Given the description of an element on the screen output the (x, y) to click on. 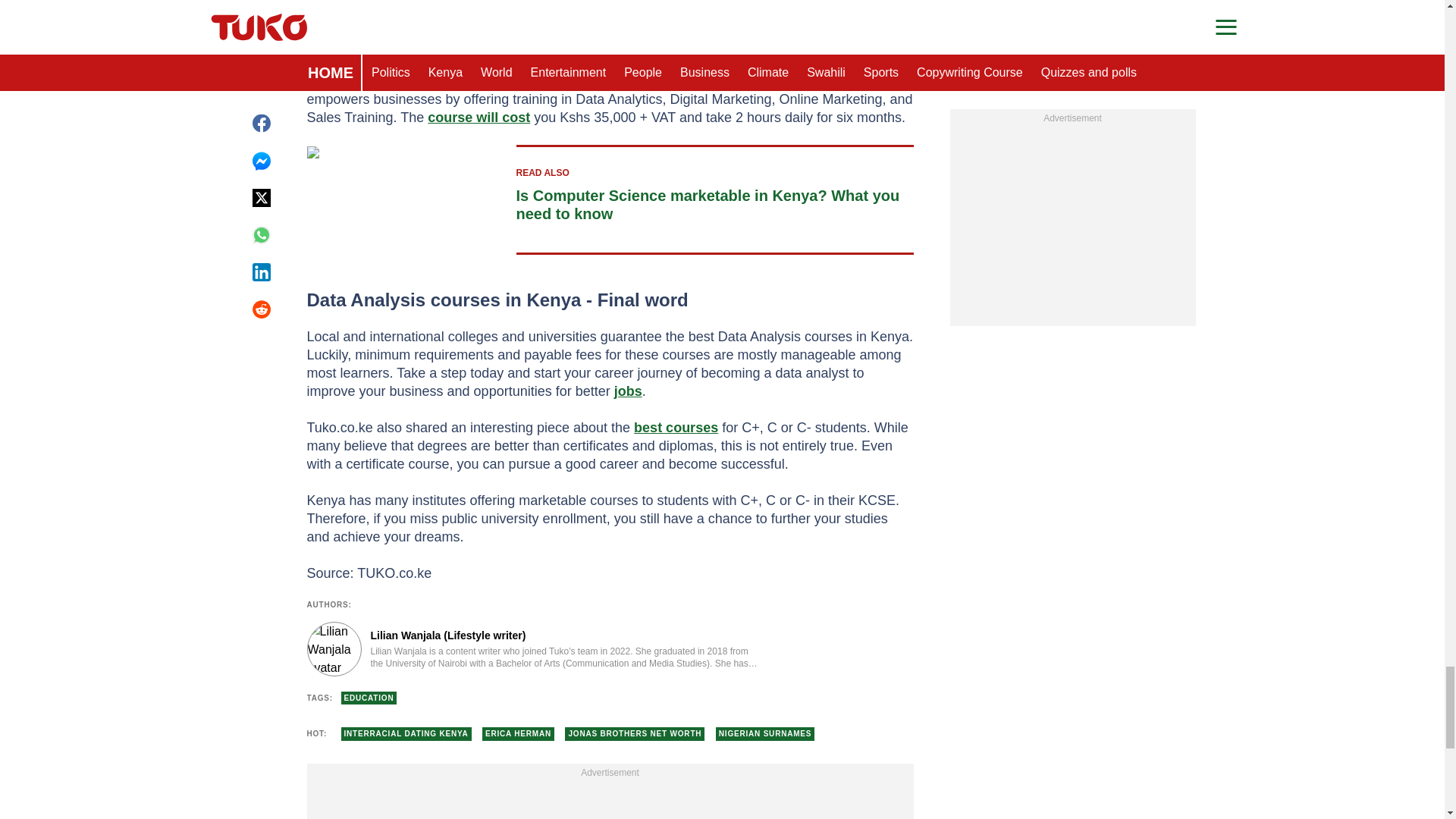
Author page (533, 648)
